Given the description of an element on the screen output the (x, y) to click on. 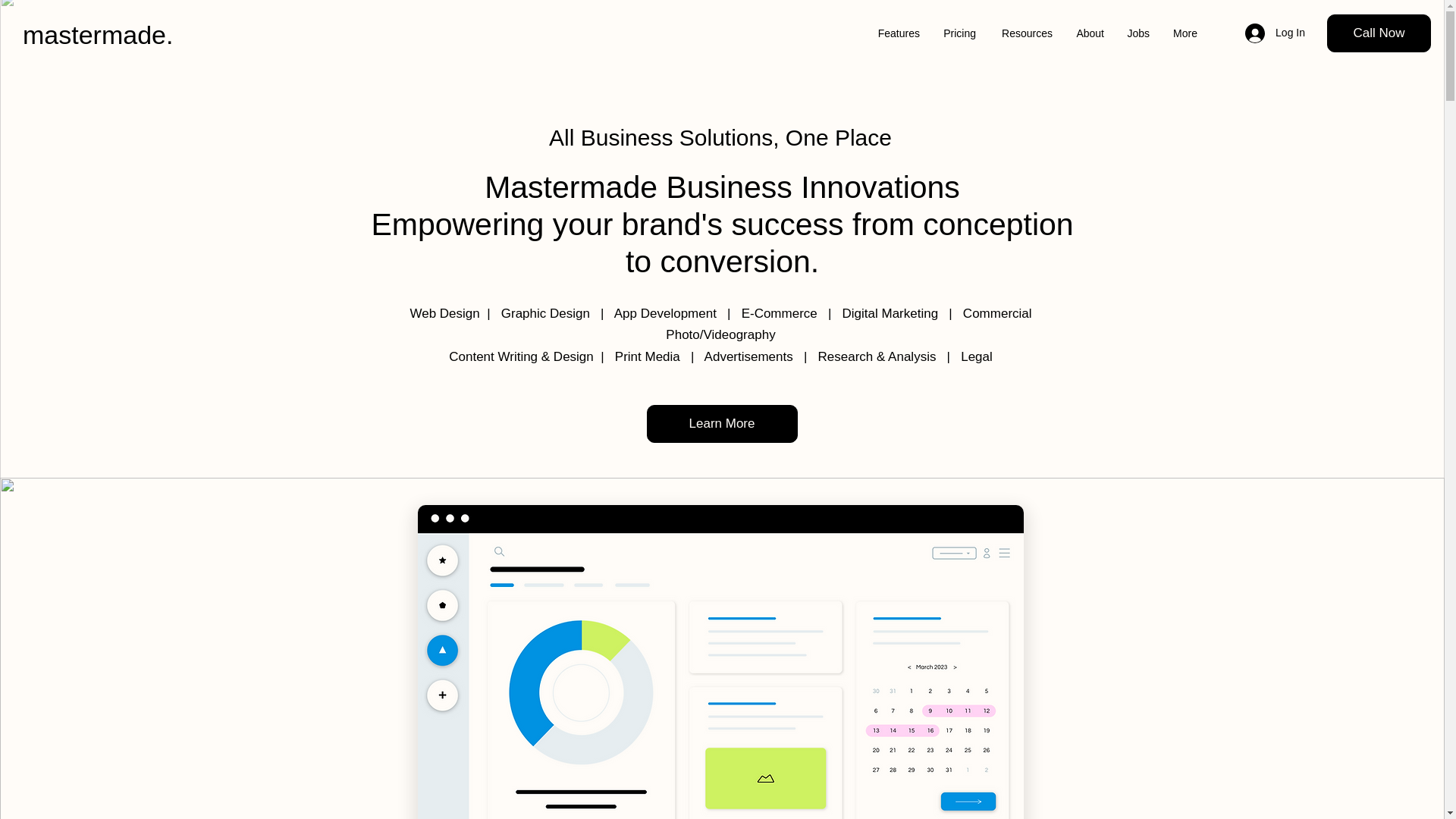
mastermade (94, 34)
Log In (1275, 32)
About (1089, 33)
Pricing (959, 33)
Learn More (721, 423)
Resources (1025, 33)
Jobs (1137, 33)
Features (897, 33)
Call Now (1378, 33)
